Given the description of an element on the screen output the (x, y) to click on. 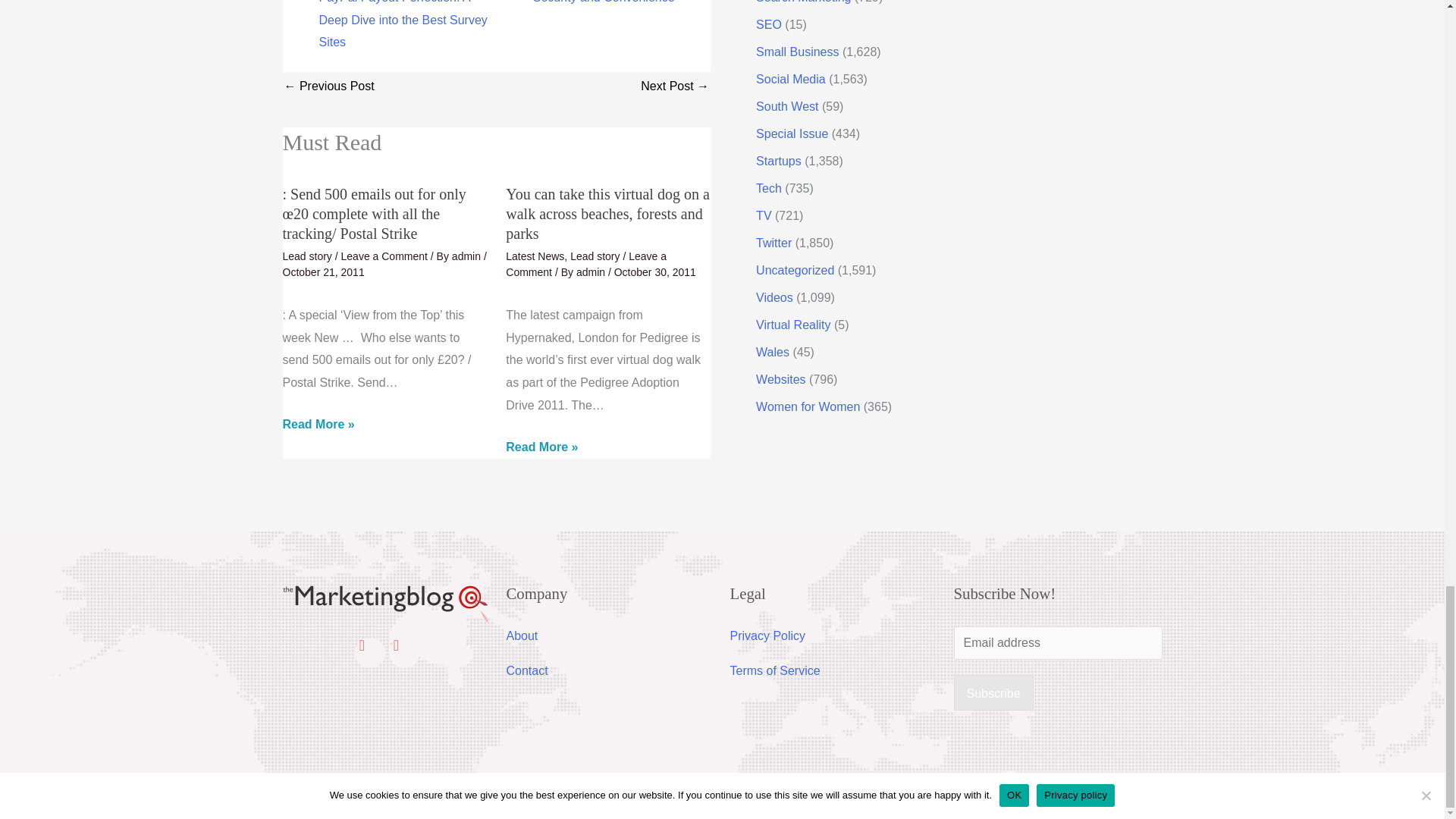
View all posts by admin (592, 272)
Watch : Is this the most racist commercial ever? (674, 87)
View all posts by admin (467, 256)
